Given the description of an element on the screen output the (x, y) to click on. 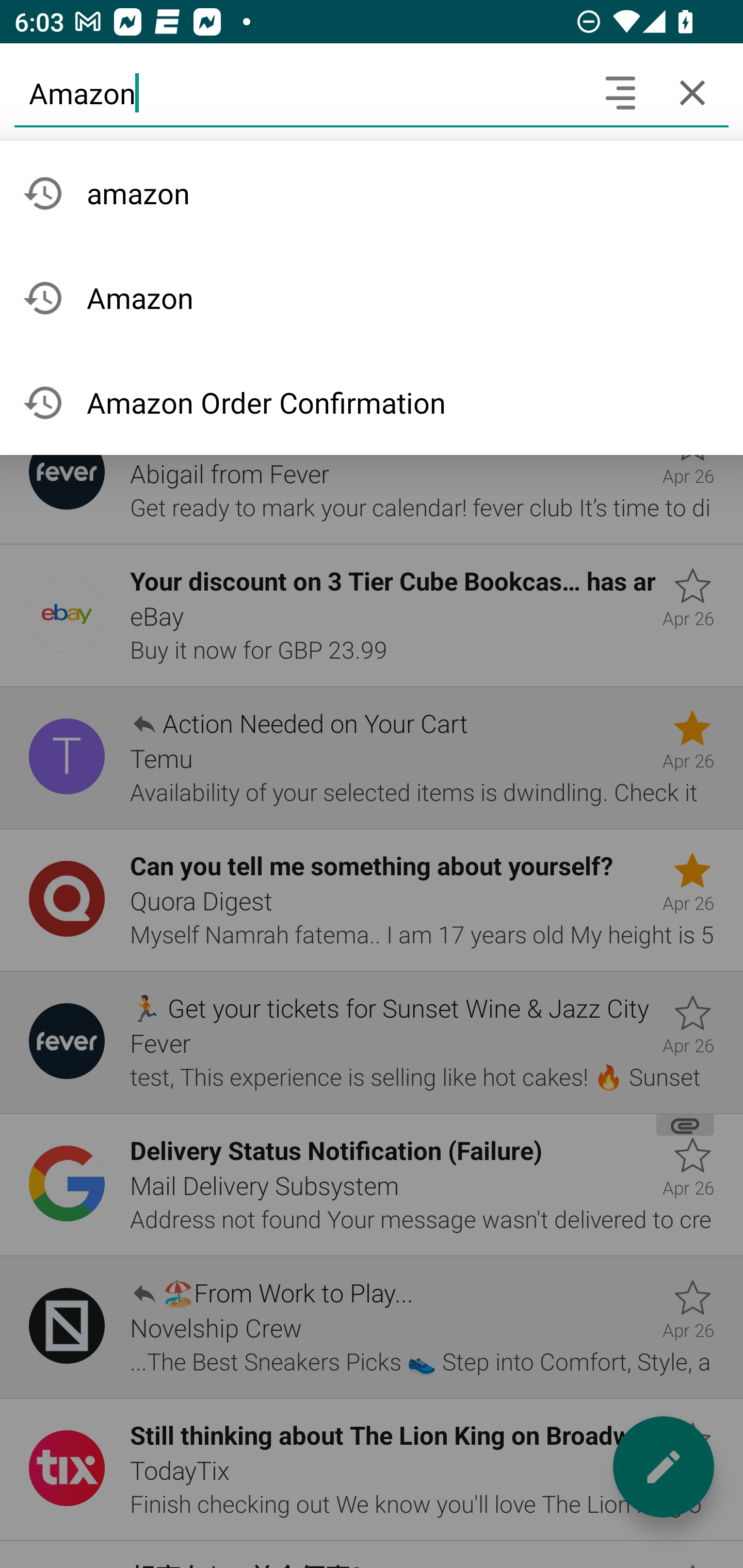
Amazon (298, 92)
Search headers and text (619, 92)
Cancel (692, 92)
